Given the description of an element on the screen output the (x, y) to click on. 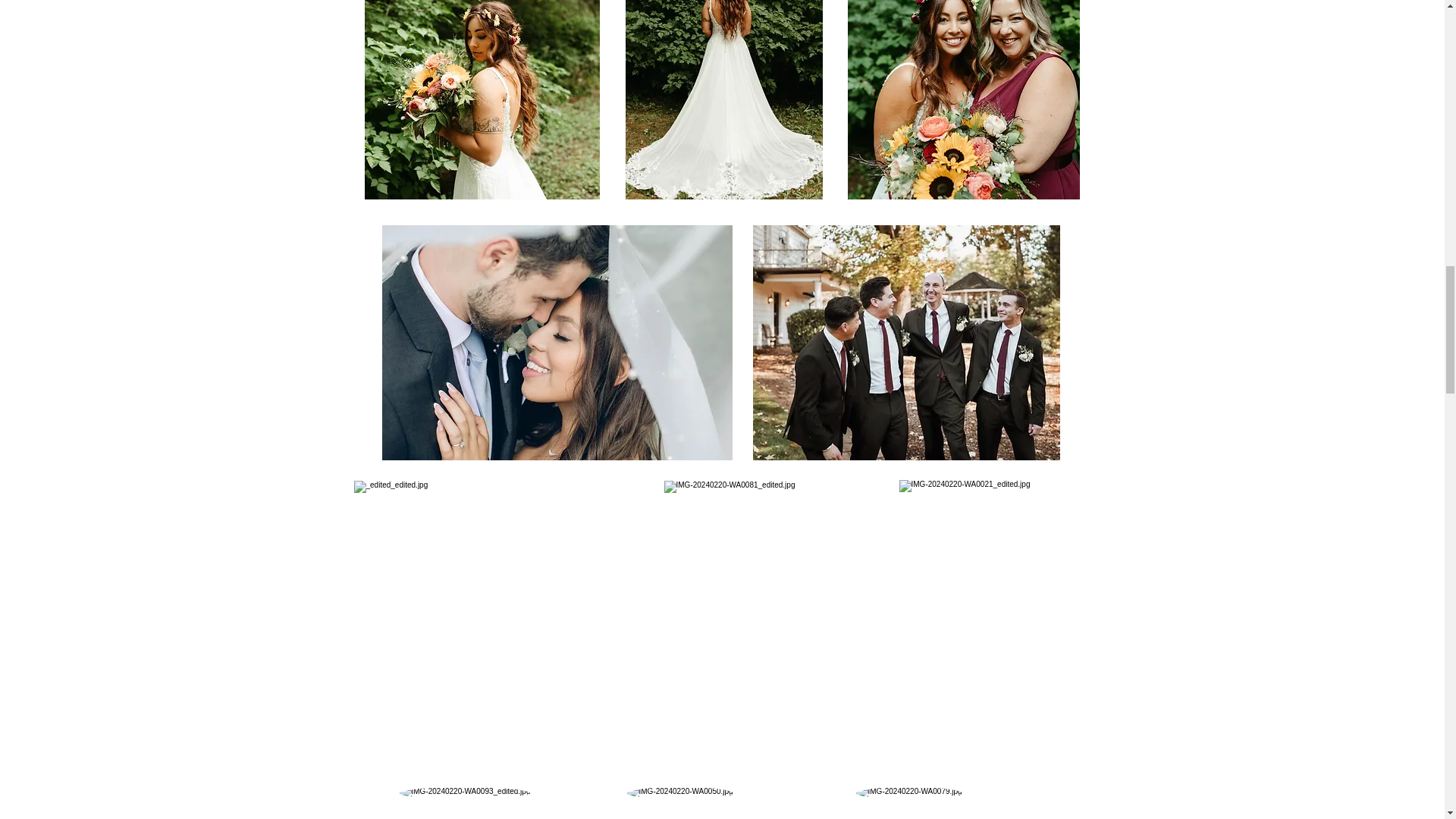
10.jpeg (905, 342)
9.jpeg (963, 99)
1.jpeg (556, 342)
16.jpeg (723, 99)
11.jpeg (481, 99)
6.jpeg (498, 623)
3.jpeg (771, 623)
4.jpeg (994, 622)
